Given the description of an element on the screen output the (x, y) to click on. 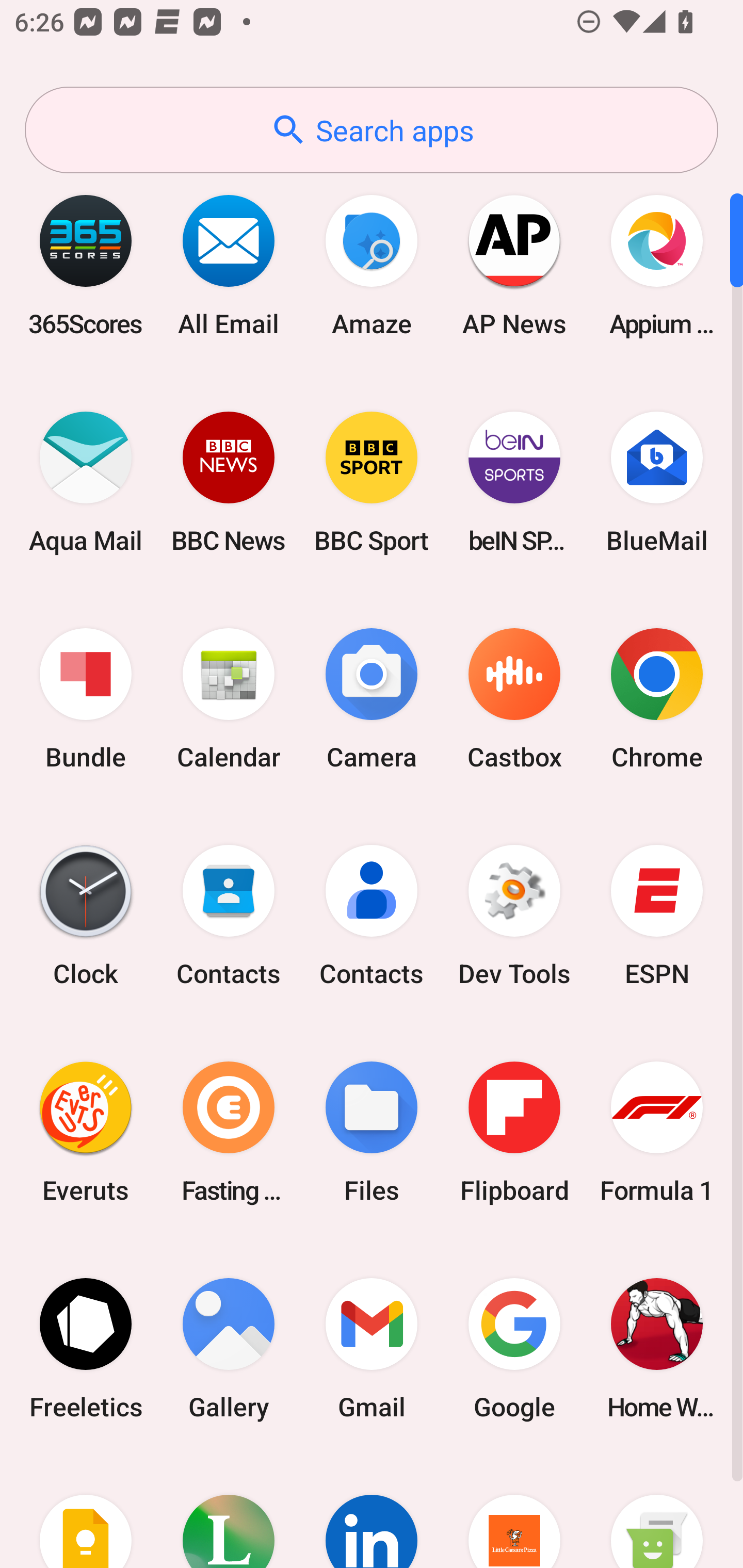
  Search apps (371, 130)
365Scores (85, 264)
All Email (228, 264)
Amaze (371, 264)
AP News (514, 264)
Appium Settings (656, 264)
Aqua Mail (85, 482)
BBC News (228, 482)
BBC Sport (371, 482)
beIN SPORTS (514, 482)
BlueMail (656, 482)
Bundle (85, 699)
Calendar (228, 699)
Camera (371, 699)
Castbox (514, 699)
Chrome (656, 699)
Clock (85, 915)
Contacts (228, 915)
Contacts (371, 915)
Dev Tools (514, 915)
ESPN (656, 915)
Everuts (85, 1131)
Fasting Coach (228, 1131)
Files (371, 1131)
Flipboard (514, 1131)
Formula 1 (656, 1131)
Freeletics (85, 1348)
Gallery (228, 1348)
Gmail (371, 1348)
Google (514, 1348)
Home Workout (656, 1348)
